Given the description of an element on the screen output the (x, y) to click on. 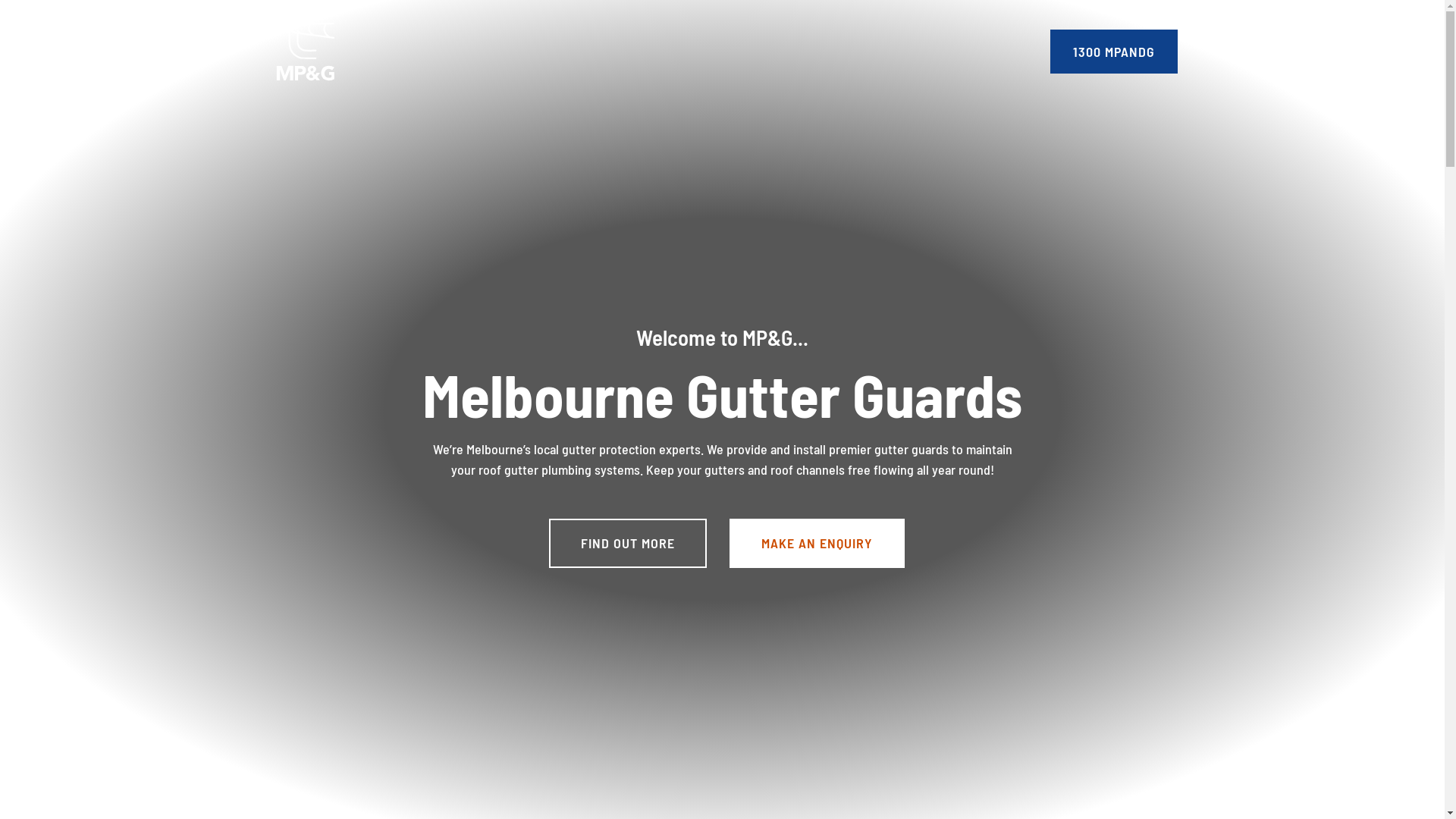
MAKE AN ENQUIRY Element type: text (816, 542)
1300 MPANDG Element type: text (1112, 51)
FIND OUT MORE Element type: text (627, 542)
